Given the description of an element on the screen output the (x, y) to click on. 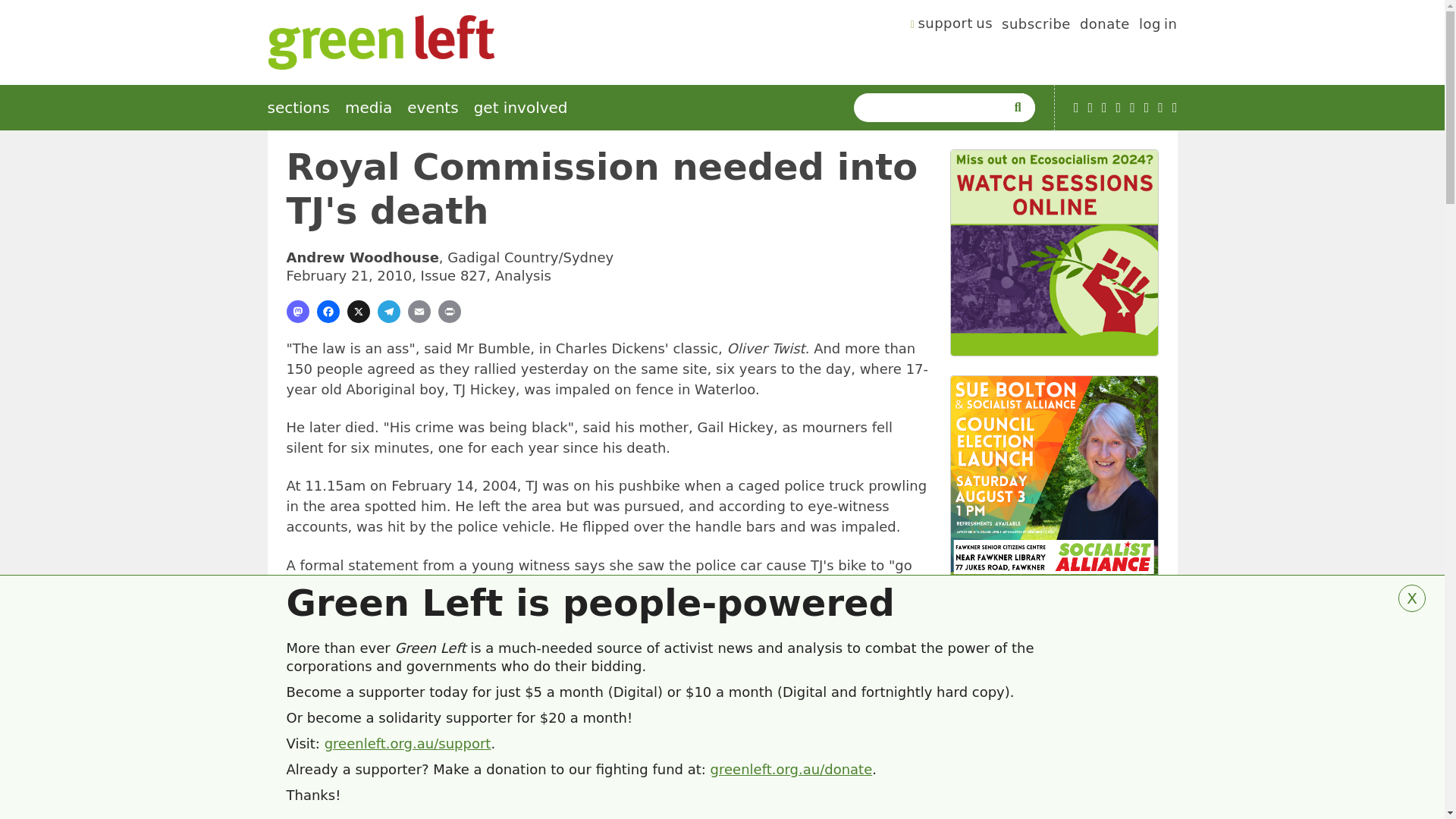
share via email (418, 311)
donate (1104, 26)
subscribe (1035, 26)
Share on Facebook (328, 311)
Print (449, 311)
Share on Mastondon (297, 311)
Share on X (358, 311)
events (432, 107)
log in (1157, 26)
Enter the terms you wish to search for. (932, 107)
support us (951, 26)
Share on Telegram (388, 311)
